Given the description of an element on the screen output the (x, y) to click on. 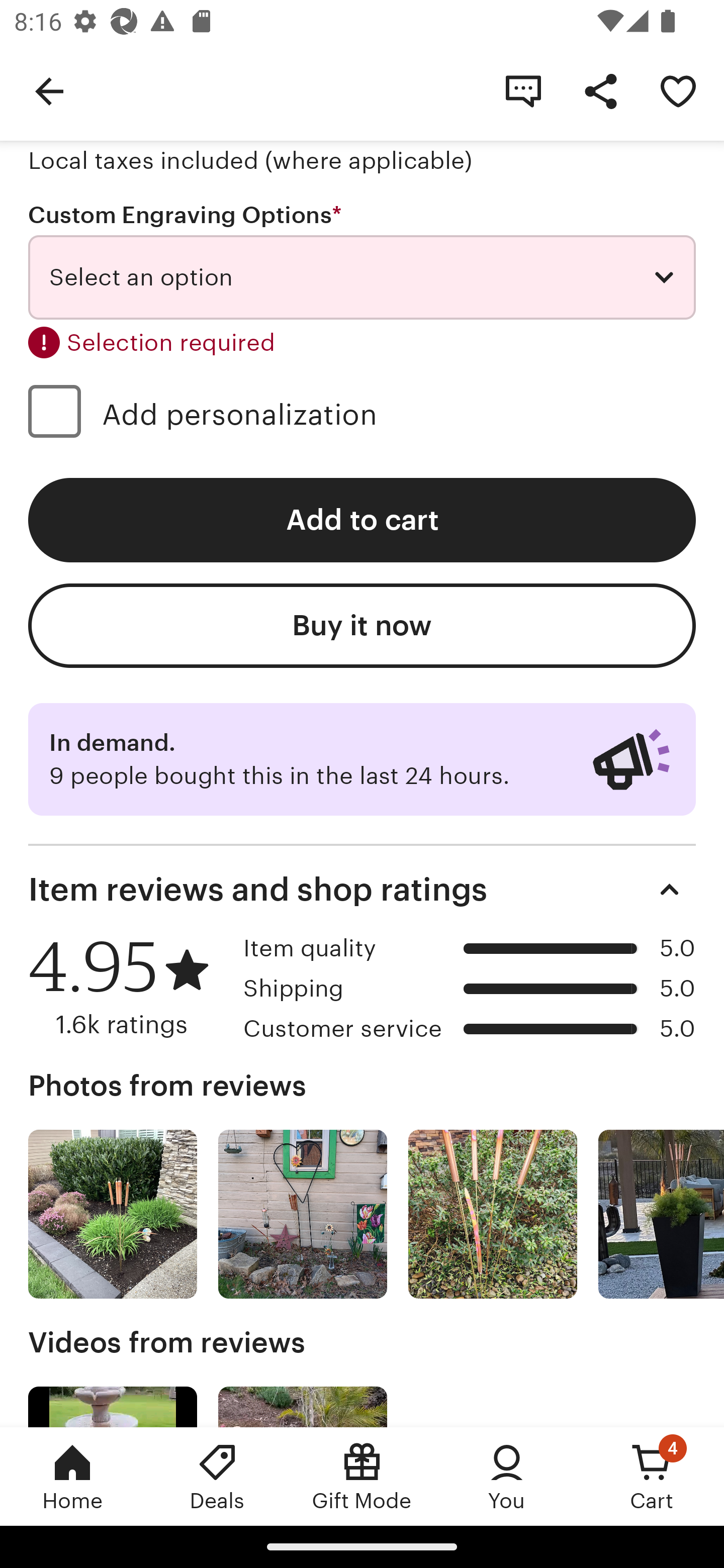
Navigate up (49, 90)
Contact shop (523, 90)
Share (600, 90)
Select an option (361, 277)
Add personalization (optional) Add personalization (362, 414)
Add to cart (361, 520)
Buy it now (361, 625)
Item reviews and shop ratings (362, 888)
4.95 1.6k ratings (128, 986)
Photo from review (112, 1214)
Photo from review (302, 1214)
Photo from review (492, 1214)
Photo from review (661, 1214)
Deals (216, 1475)
Gift Mode (361, 1475)
You (506, 1475)
Cart, 4 new notifications Cart (651, 1475)
